Given the description of an element on the screen output the (x, y) to click on. 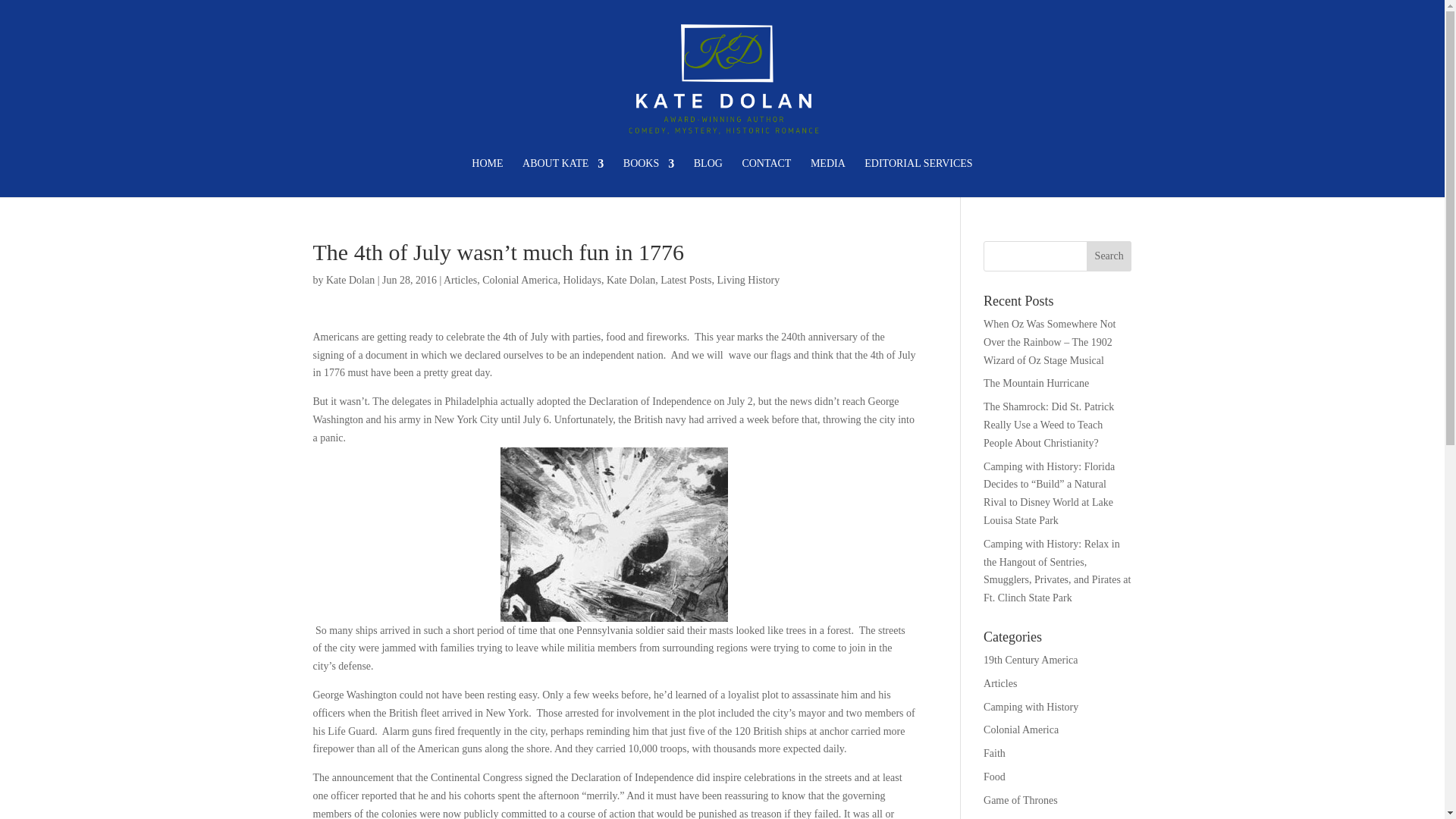
Colonial America (519, 279)
Search (1109, 255)
ABOUT KATE (563, 177)
BOOKS (648, 177)
Latest Posts (686, 279)
Posts by Kate Dolan (350, 279)
Kate Dolan (631, 279)
Holidays (581, 279)
The Mountain Hurricane (1036, 383)
Kate Dolan (350, 279)
Living History (747, 279)
Search (1109, 255)
MEDIA (827, 177)
Articles (460, 279)
